Given the description of an element on the screen output the (x, y) to click on. 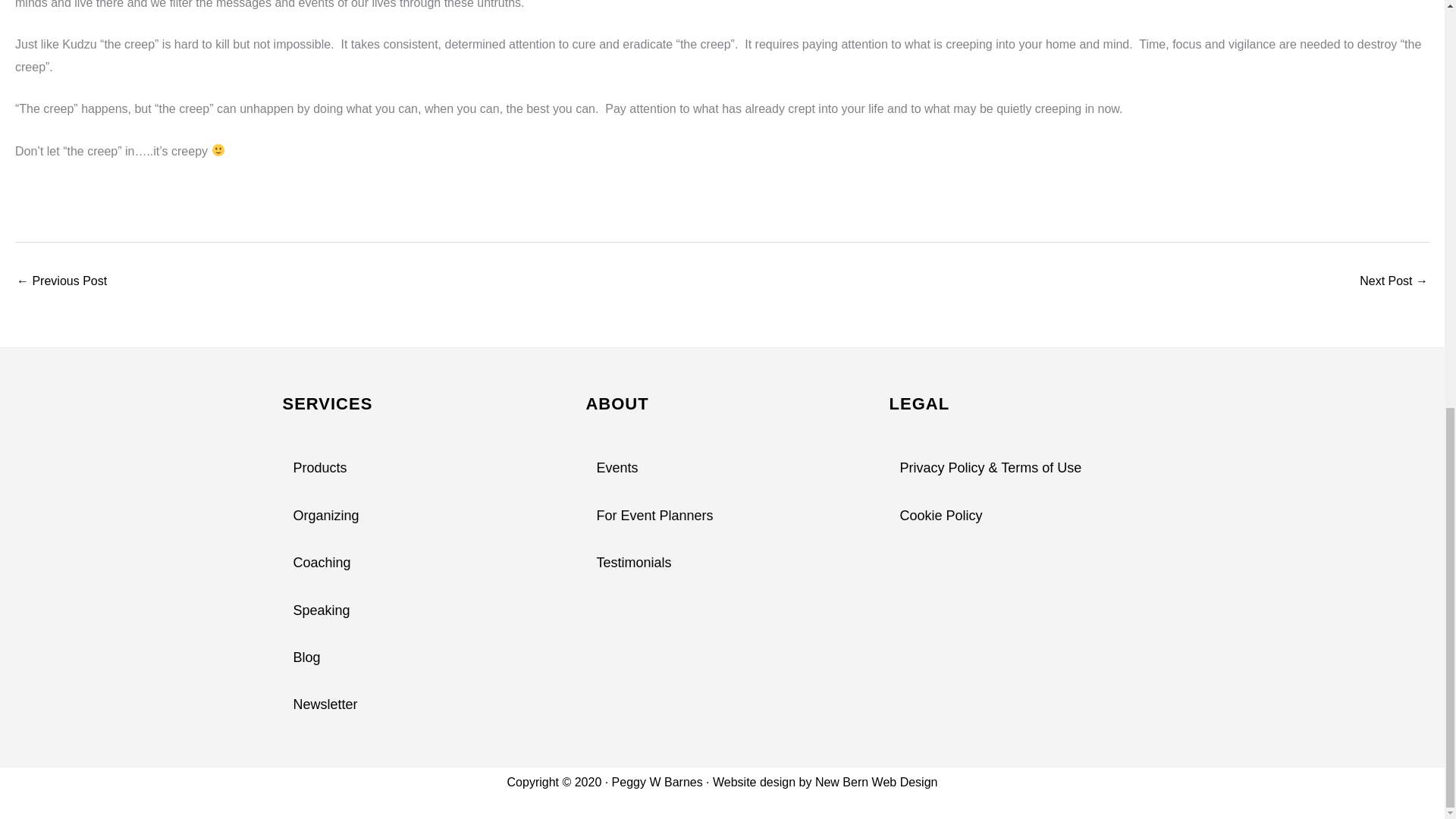
Testimonials (722, 562)
I Eat Salad for Breakfast (61, 282)
Coaching (418, 562)
Events (722, 468)
Products (418, 468)
Organizing (418, 515)
New Bern Web Design (876, 781)
Speaking (418, 610)
Cookie Policy (1025, 515)
Newsletter (418, 704)
